Given the description of an element on the screen output the (x, y) to click on. 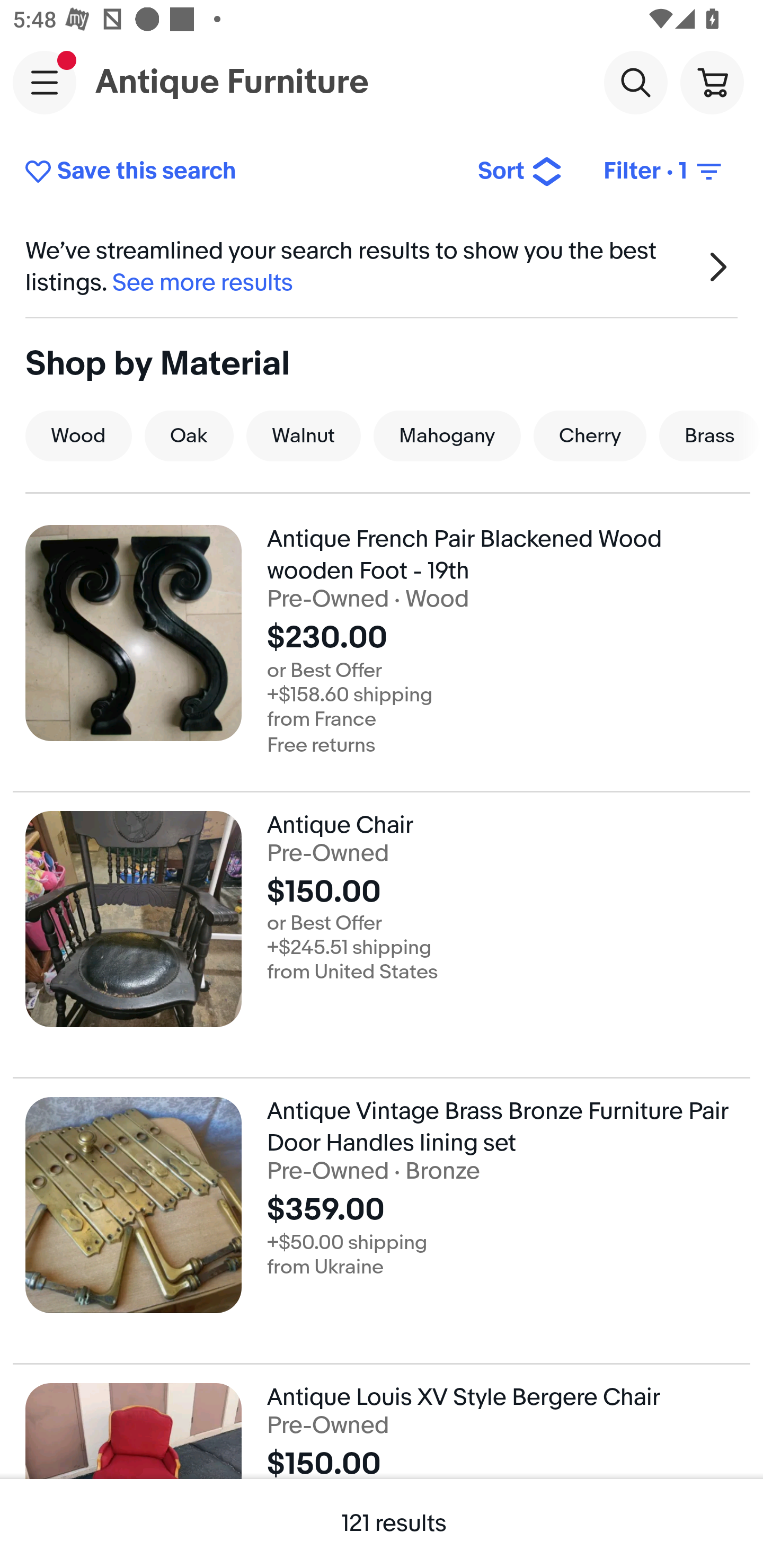
Main navigation, open (44, 82)
Search (635, 81)
Cart button shopping cart (711, 81)
Save this search (237, 171)
Sort (520, 171)
Filter • 1 Filter (1 applied) (663, 171)
Wood Wood, Material (78, 435)
Oak Oak, Material (188, 435)
Walnut Walnut, Material (303, 435)
Mahogany Mahogany, Material (447, 435)
Cherry Cherry, Material (589, 435)
Brass Brass, Material (709, 435)
